Given the description of an element on the screen output the (x, y) to click on. 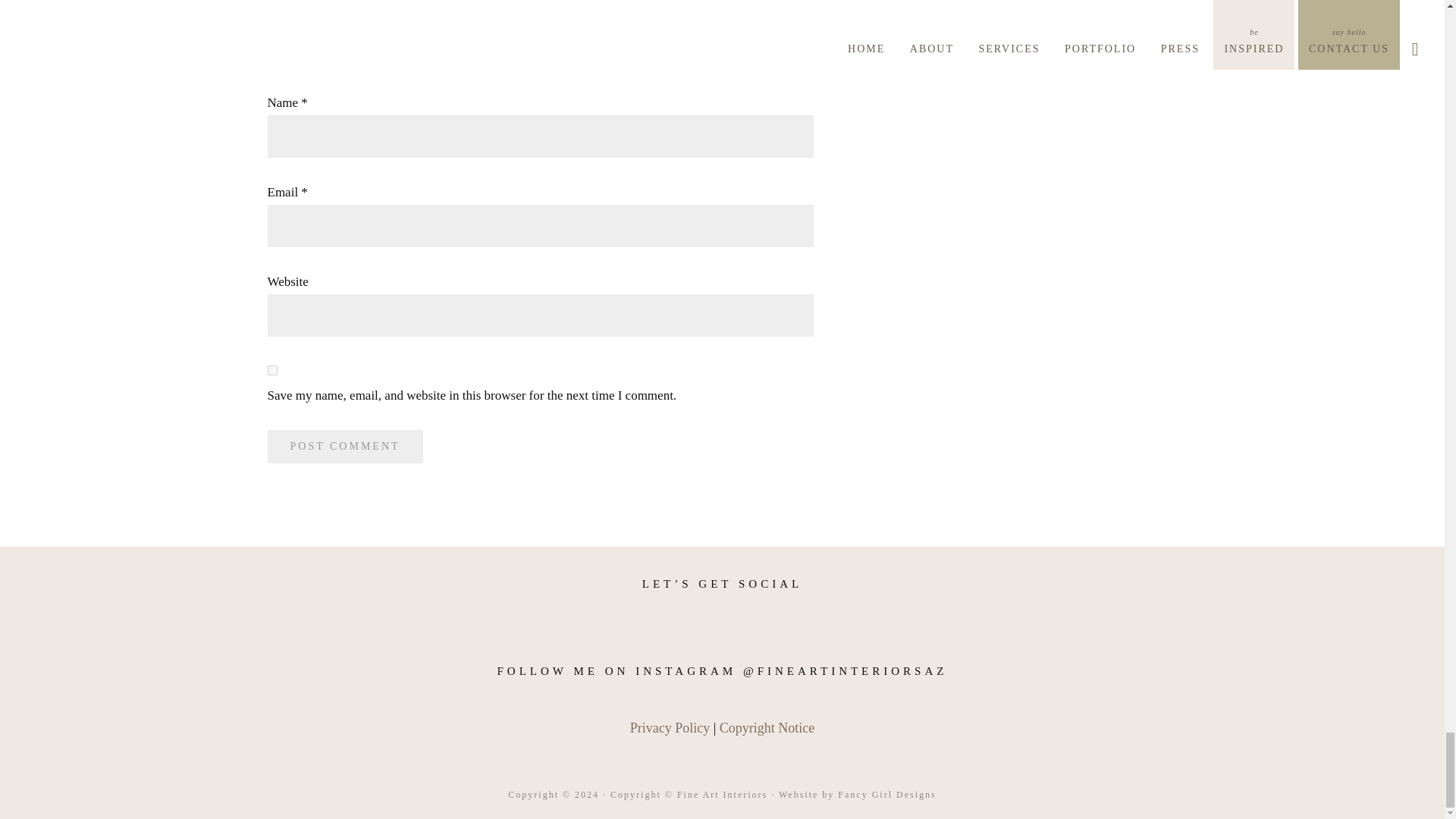
Post Comment (344, 446)
Post Comment (344, 446)
Privacy Policy (670, 727)
Website by Fancy Girl Designs (857, 794)
yes (271, 370)
Copyright Notice (766, 727)
